Given the description of an element on the screen output the (x, y) to click on. 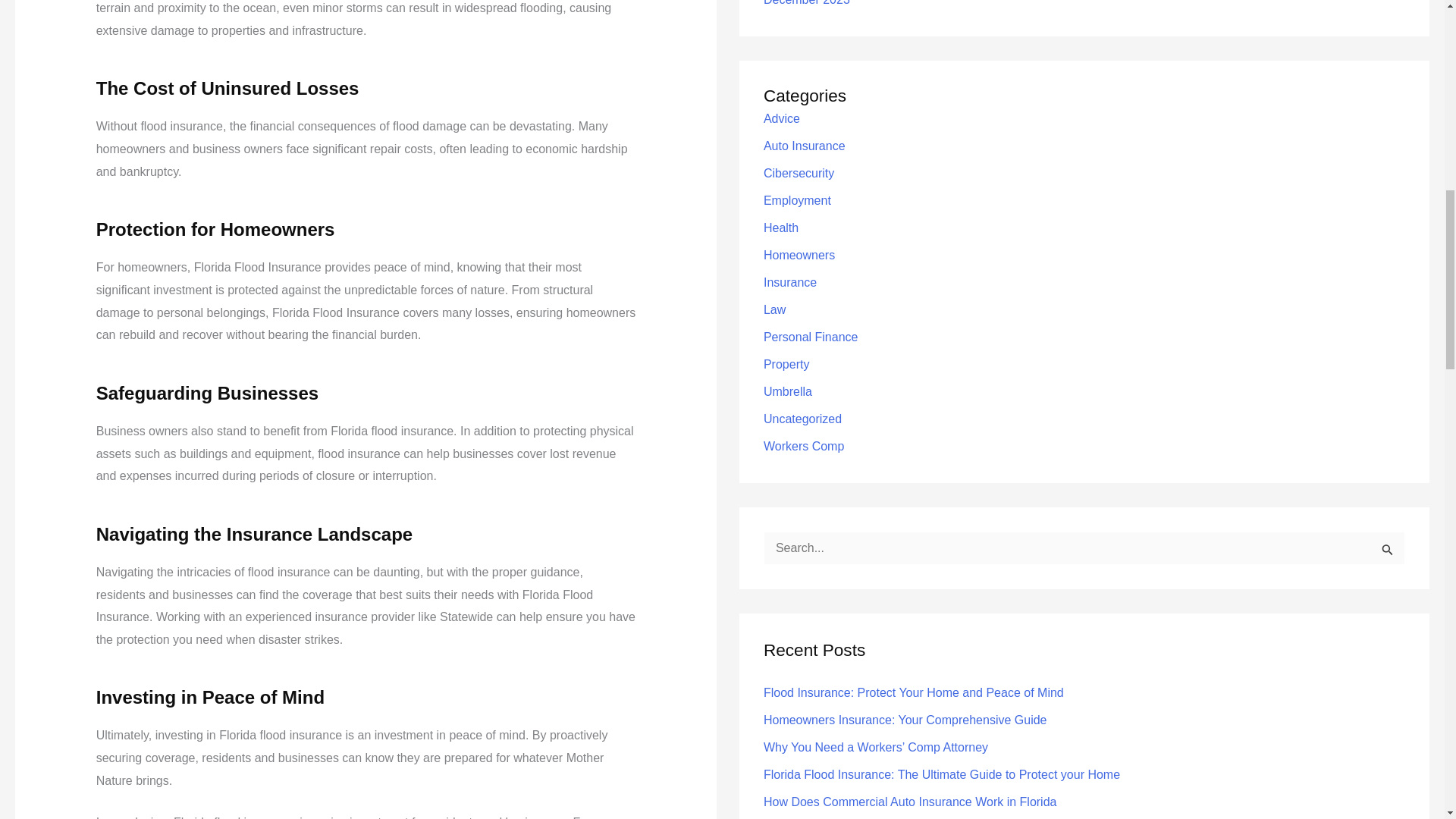
Search (1388, 552)
Search (1388, 552)
